Given the description of an element on the screen output the (x, y) to click on. 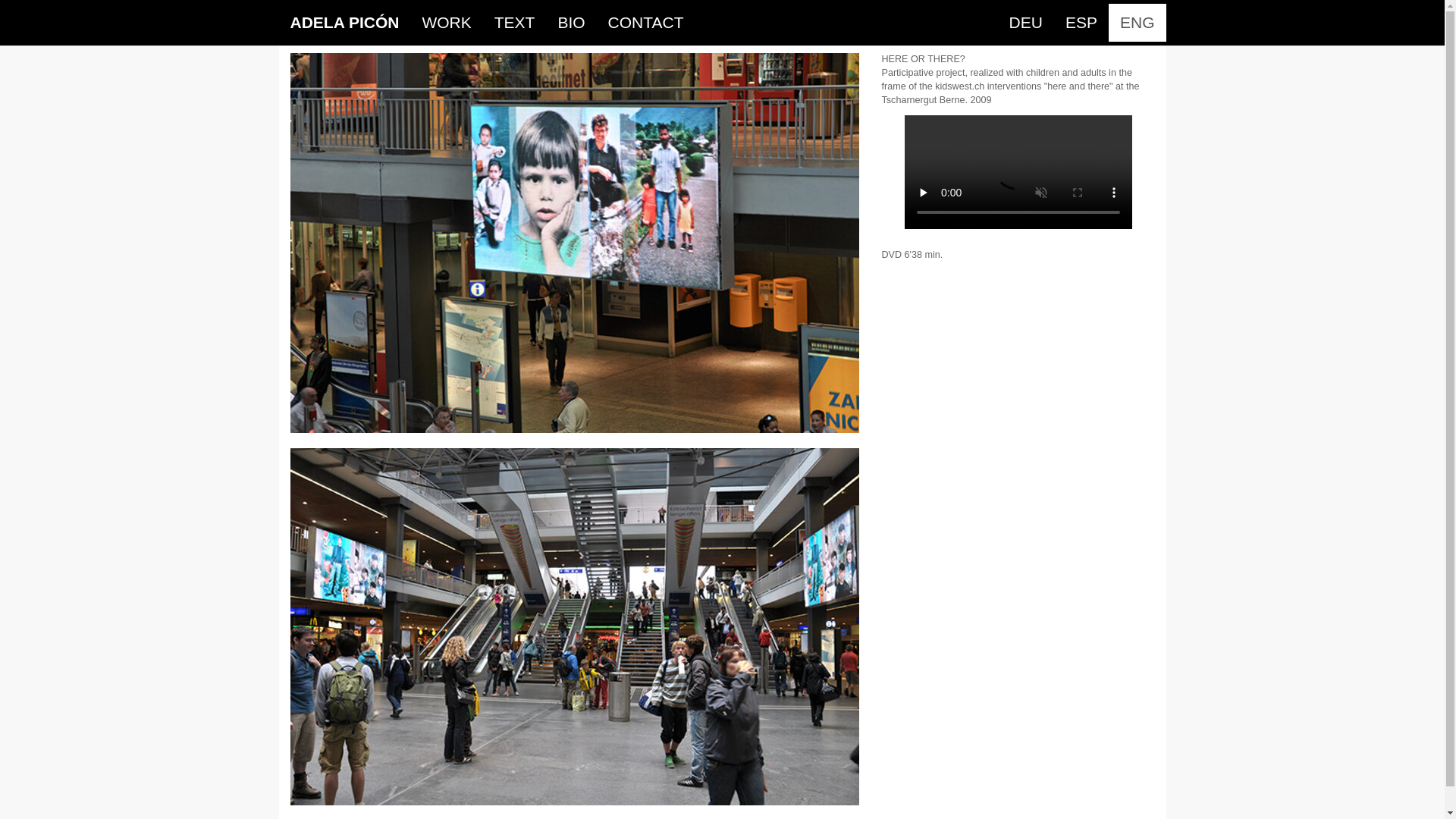
WORK Element type: text (446, 22)
ENG Element type: text (1137, 22)
DEU Element type: text (1025, 22)
BIO Element type: text (571, 22)
TEXT Element type: text (514, 22)
ESP Element type: text (1081, 22)
CONTACT Element type: text (645, 22)
